Given the description of an element on the screen output the (x, y) to click on. 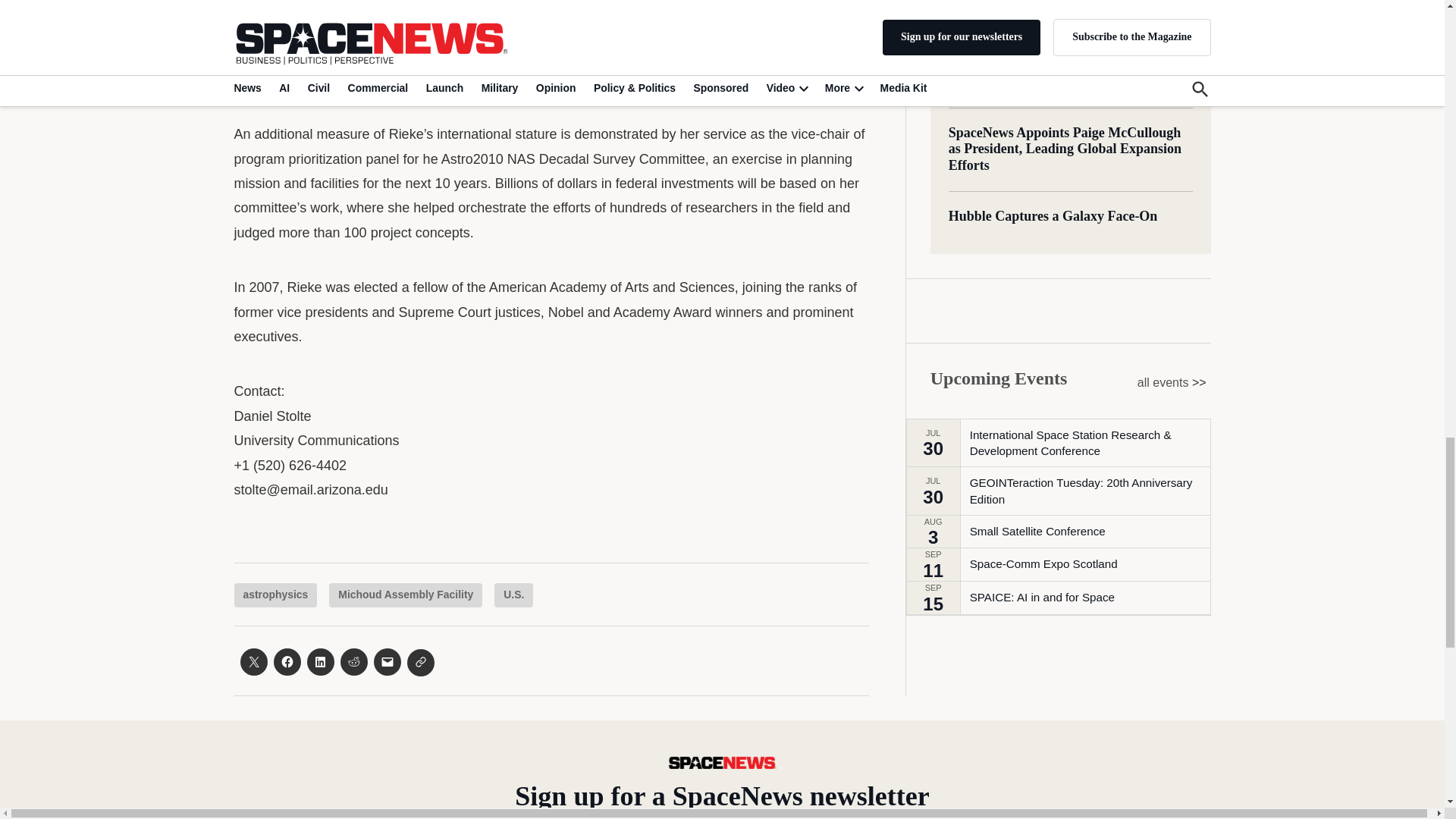
Click to email a link to a friend (386, 661)
Click to share on Clipboard (419, 662)
Click to share on Facebook (286, 661)
Click to share on X (253, 661)
Click to share on Reddit (352, 661)
Click to share on LinkedIn (319, 661)
